Given the description of an element on the screen output the (x, y) to click on. 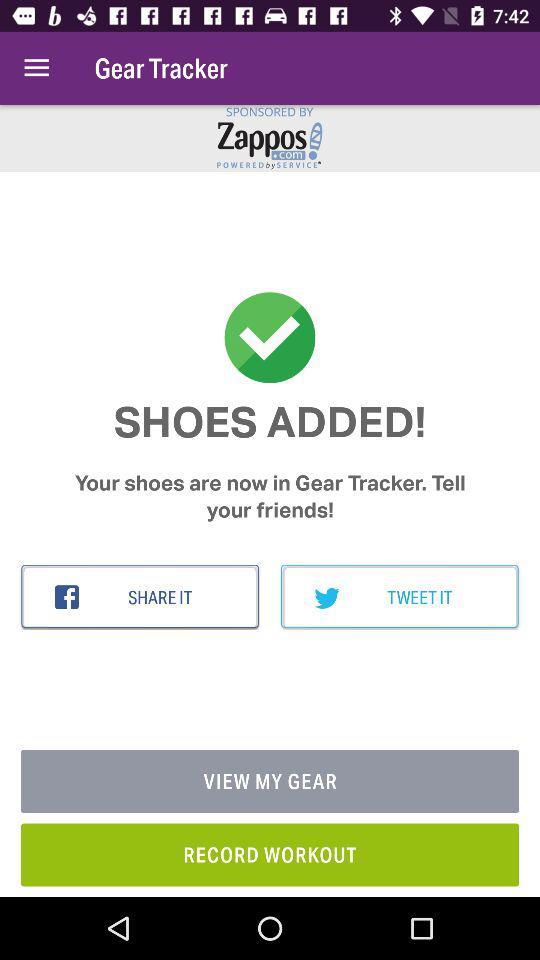
turn off the icon next to tweet it item (140, 597)
